Given the description of an element on the screen output the (x, y) to click on. 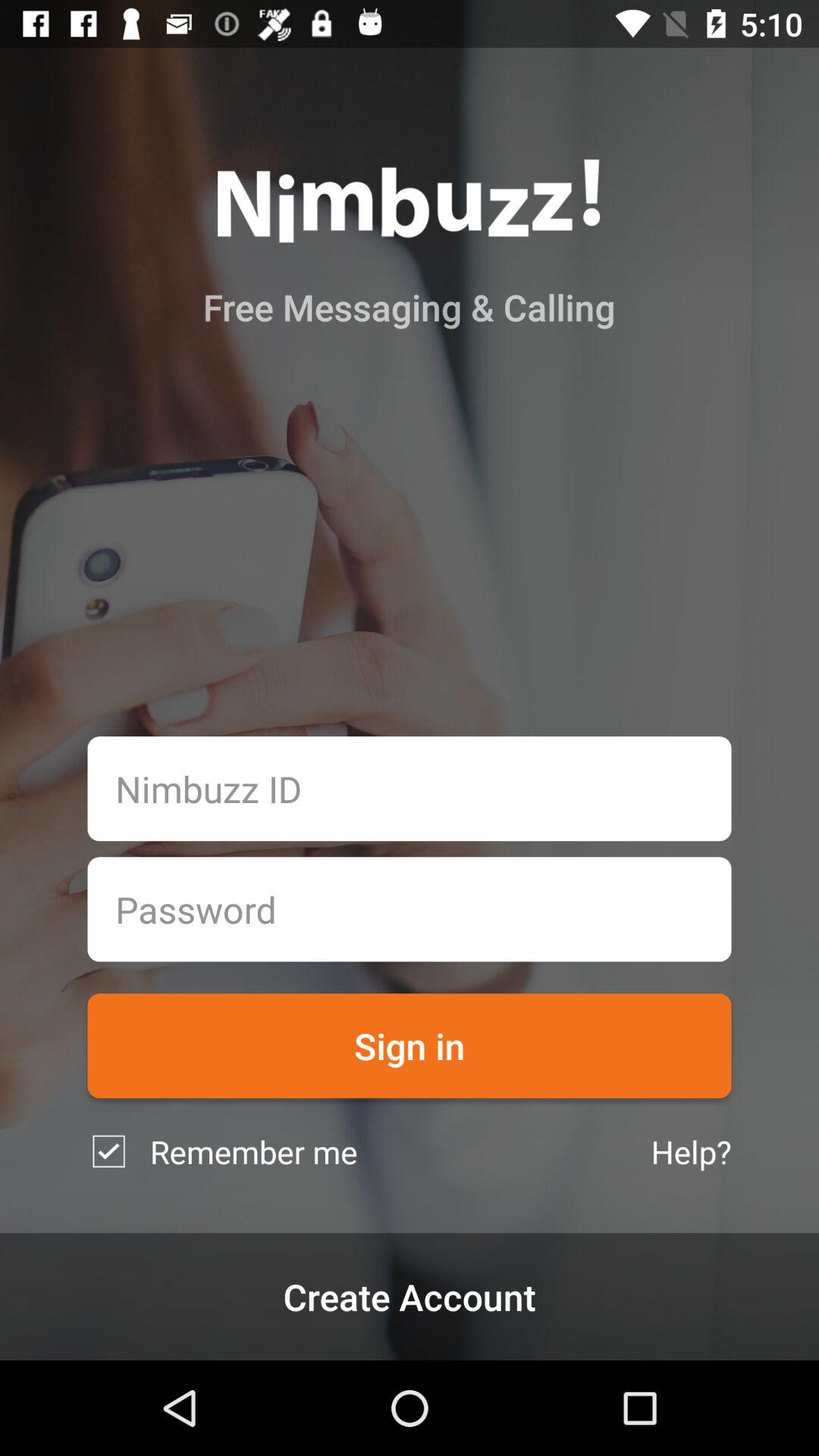
enter id (409, 788)
